Given the description of an element on the screen output the (x, y) to click on. 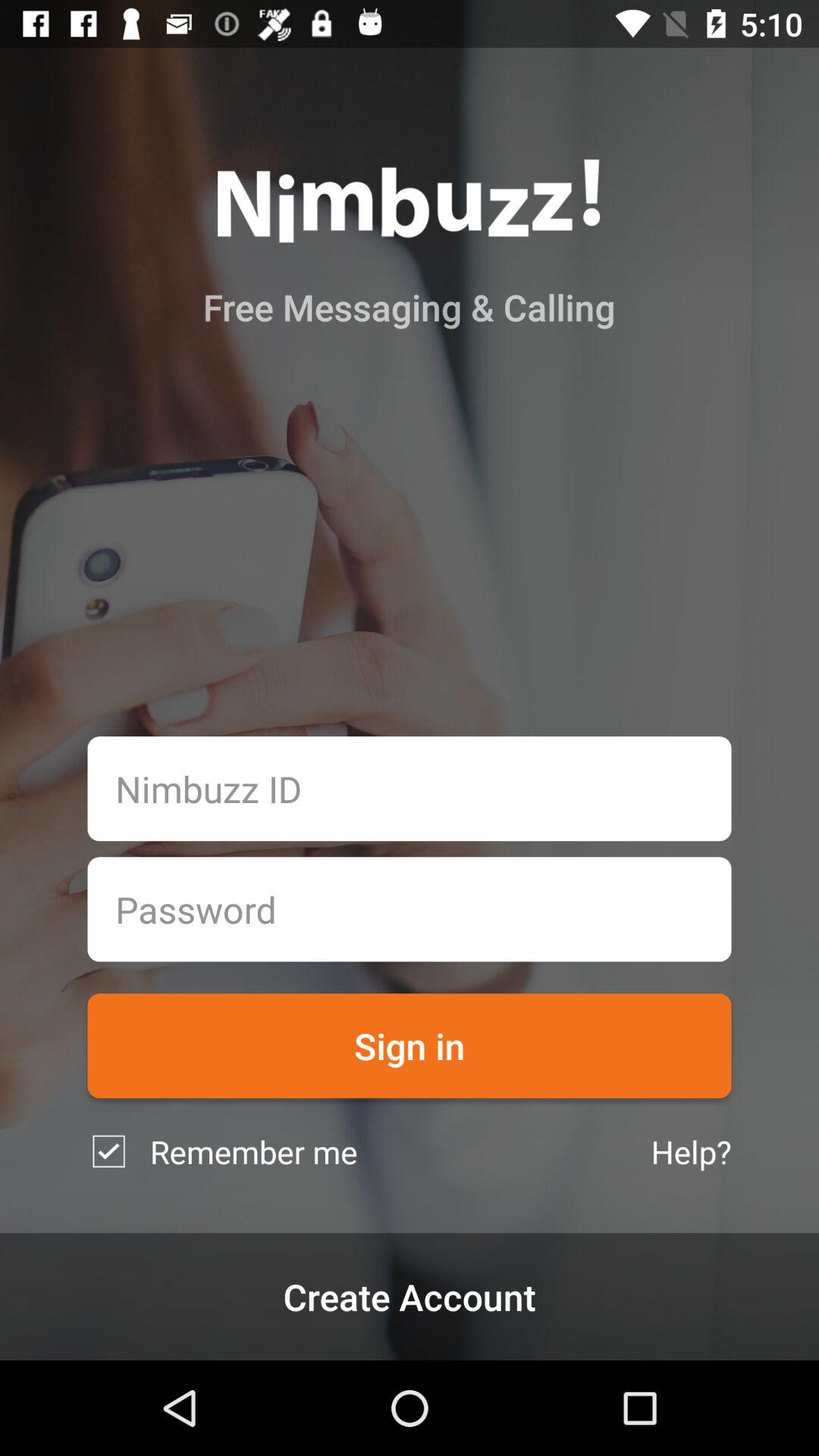
enter id (409, 788)
